Given the description of an element on the screen output the (x, y) to click on. 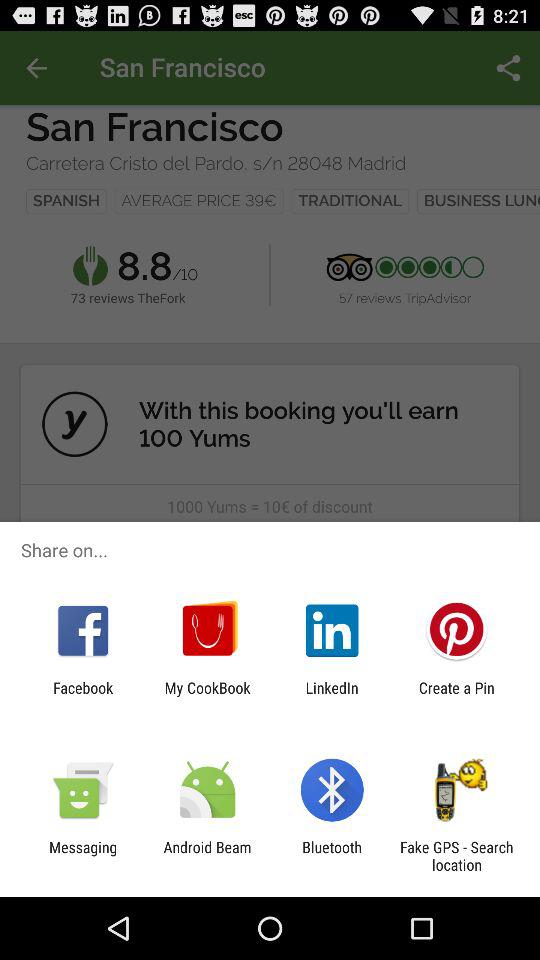
launch the icon next to the messaging item (207, 856)
